Given the description of an element on the screen output the (x, y) to click on. 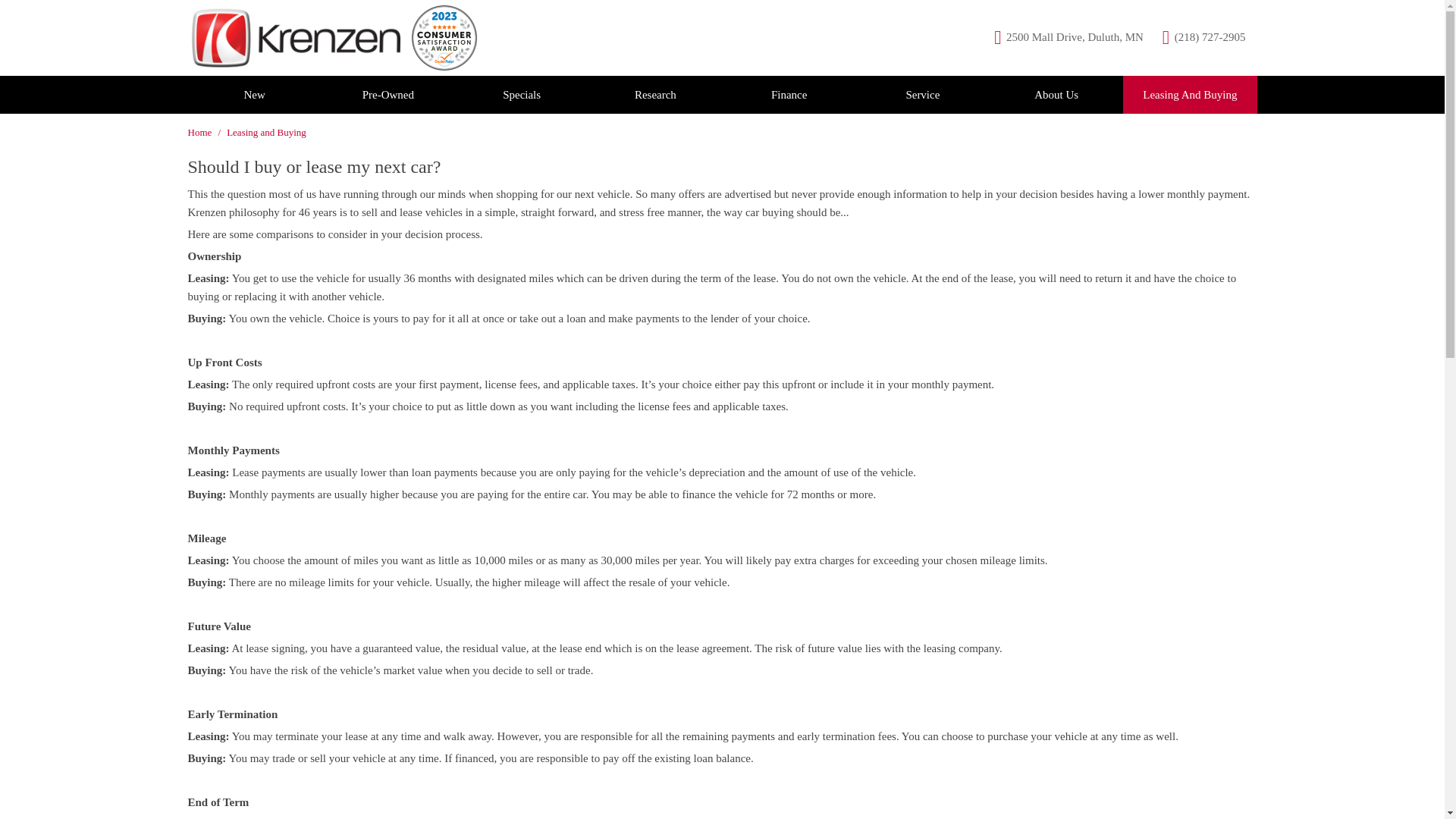
Pre-Owned (387, 94)
New (254, 94)
Krenzen (444, 37)
2500 Mall Drive, Duluth, MN (1068, 37)
Honda, Lincoln, Nissan (293, 37)
